Given the description of an element on the screen output the (x, y) to click on. 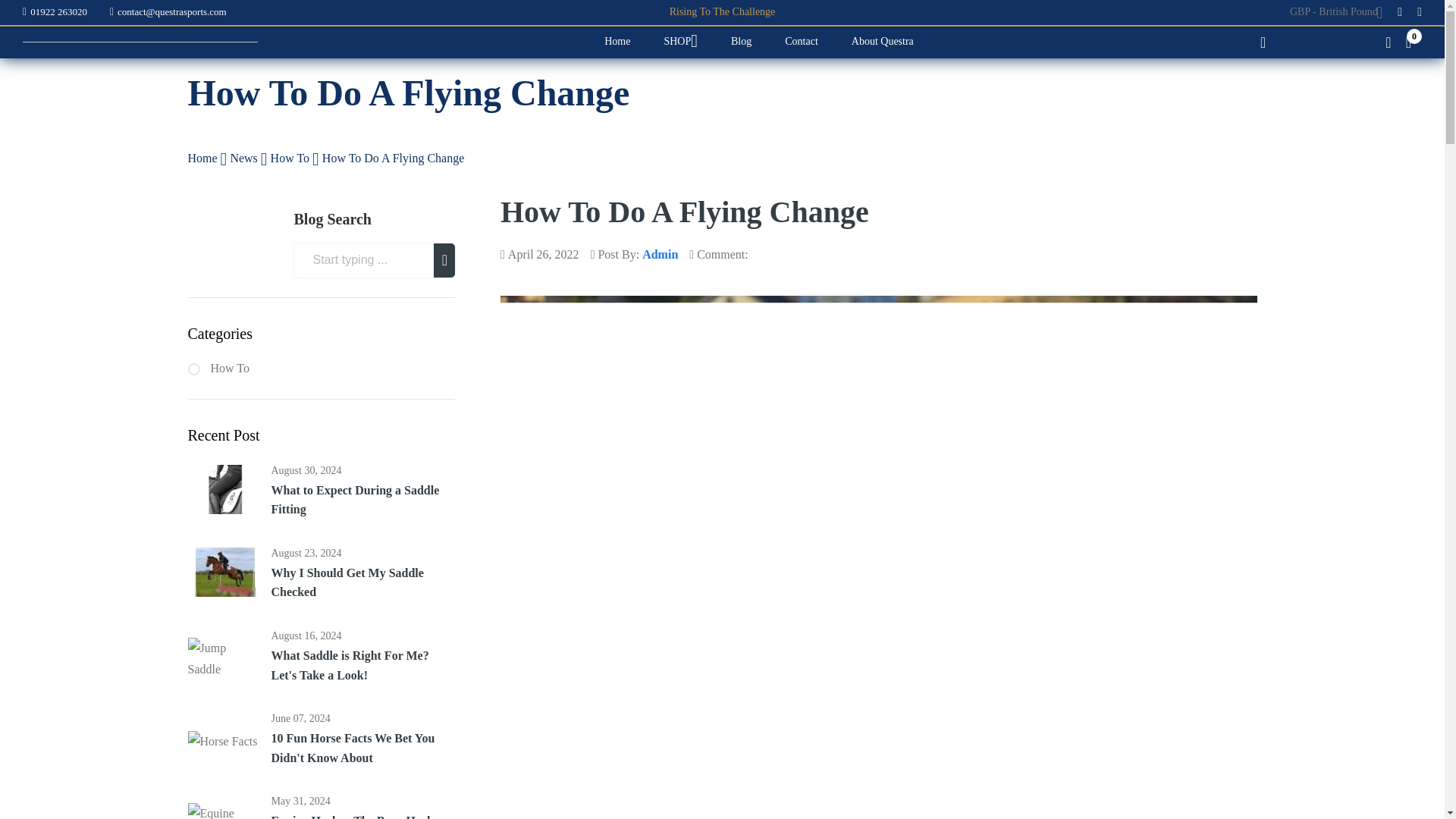
Why I Should Get My Saddle Checked (362, 582)
What to Expect During a Saddle Fitting (224, 492)
What Saddle is Right For Me?  Let's Take a Look! (224, 659)
What to Expect During a Saddle Fitting (362, 499)
Home (617, 42)
Contact (801, 42)
How To (291, 157)
SHOP (680, 42)
News (245, 157)
Go to Home Page (204, 157)
